Given the description of an element on the screen output the (x, y) to click on. 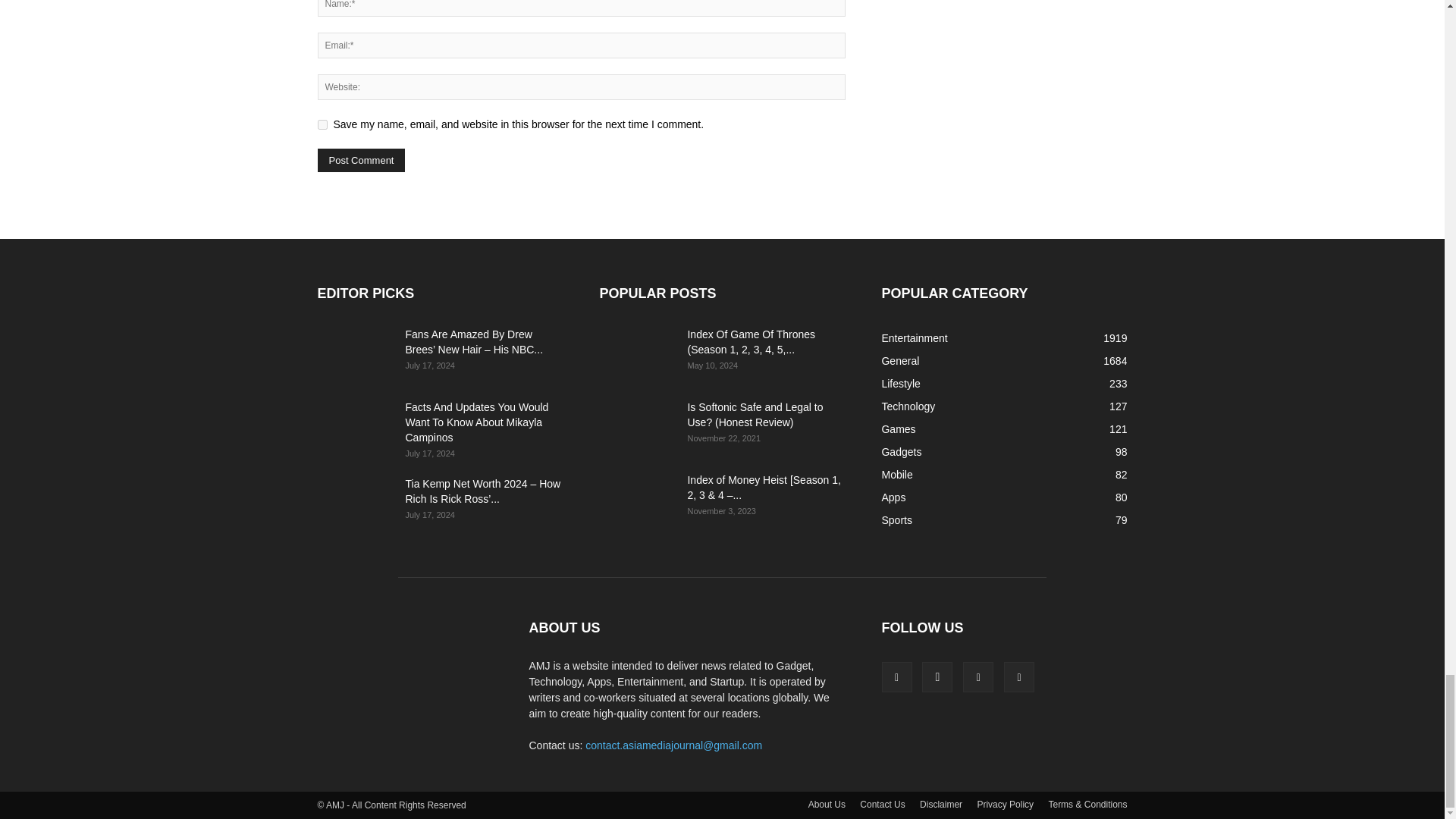
Post Comment (360, 159)
yes (321, 124)
